Given the description of an element on the screen output the (x, y) to click on. 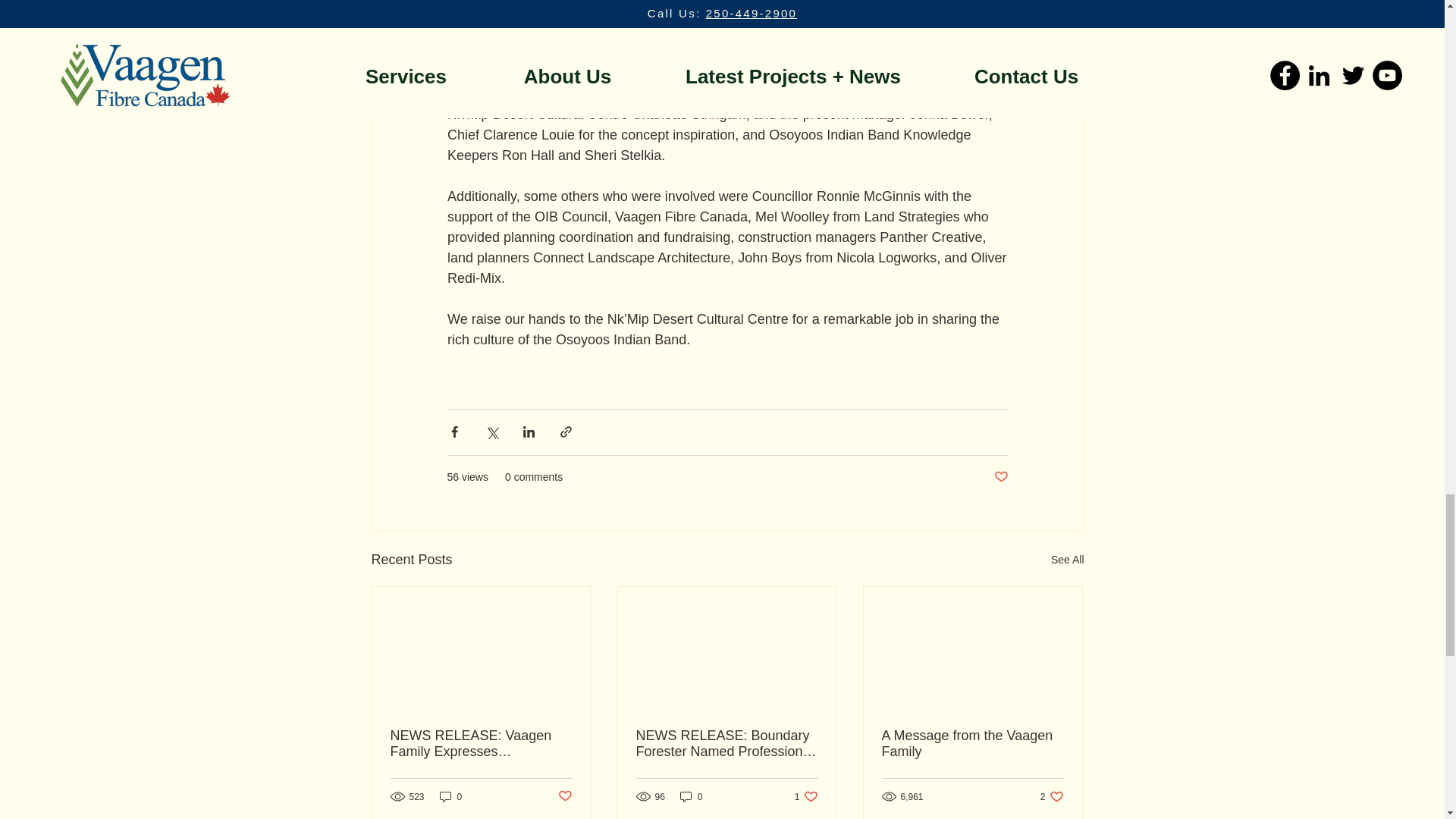
Post not marked as liked (1052, 796)
Post not marked as liked (999, 477)
See All (564, 796)
A Message from the Vaagen Family (806, 796)
0 (1067, 559)
0 (971, 744)
